Given the description of an element on the screen output the (x, y) to click on. 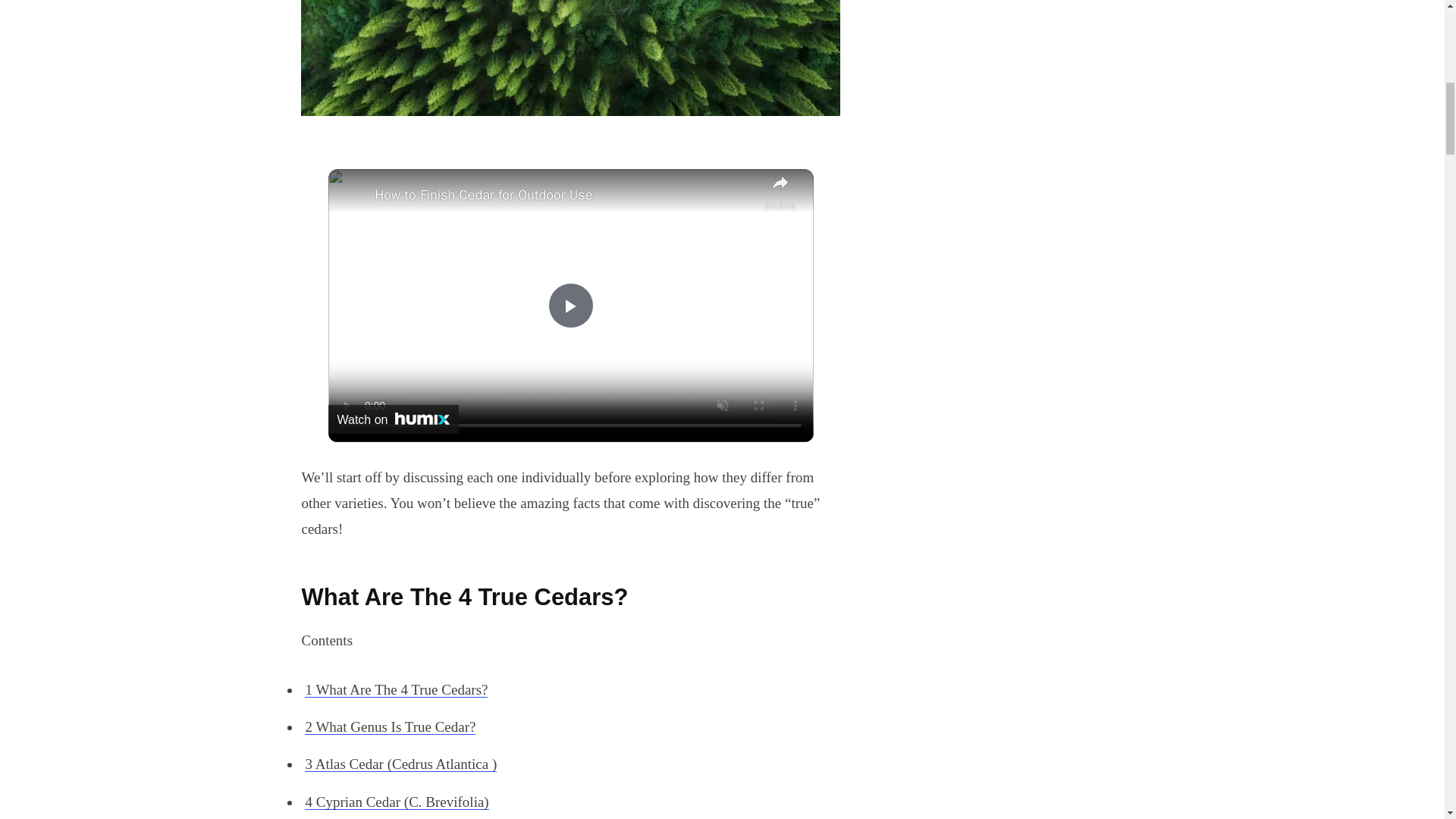
Watch on (392, 419)
Play Video (569, 305)
1 What Are The 4 True Cedars? (395, 689)
2 What Genus Is True Cedar? (390, 726)
How to Finish Cedar for Outdoor Use (564, 194)
Play Video (569, 305)
